Given the description of an element on the screen output the (x, y) to click on. 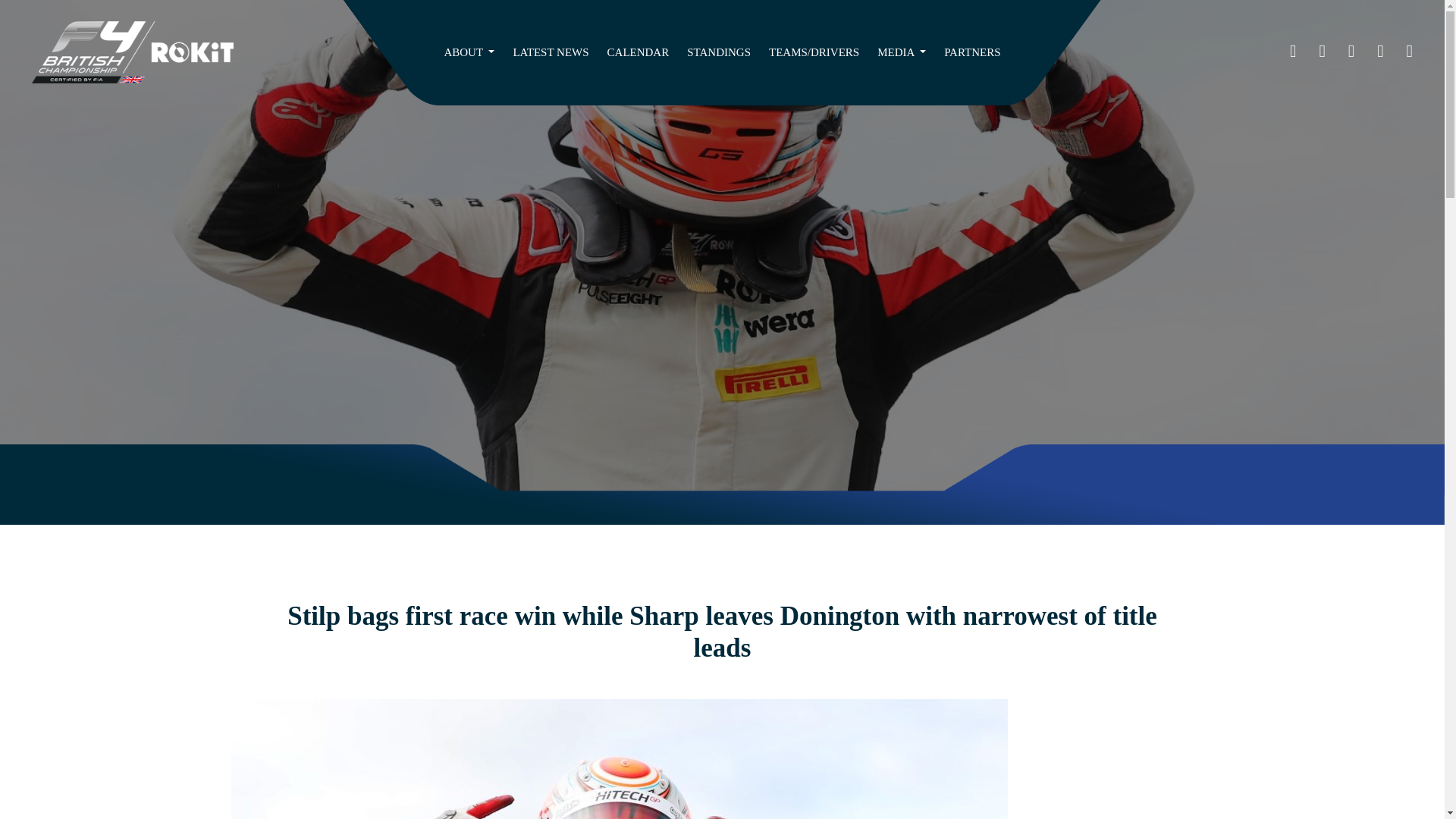
LATEST NEWS (549, 52)
